Given the description of an element on the screen output the (x, y) to click on. 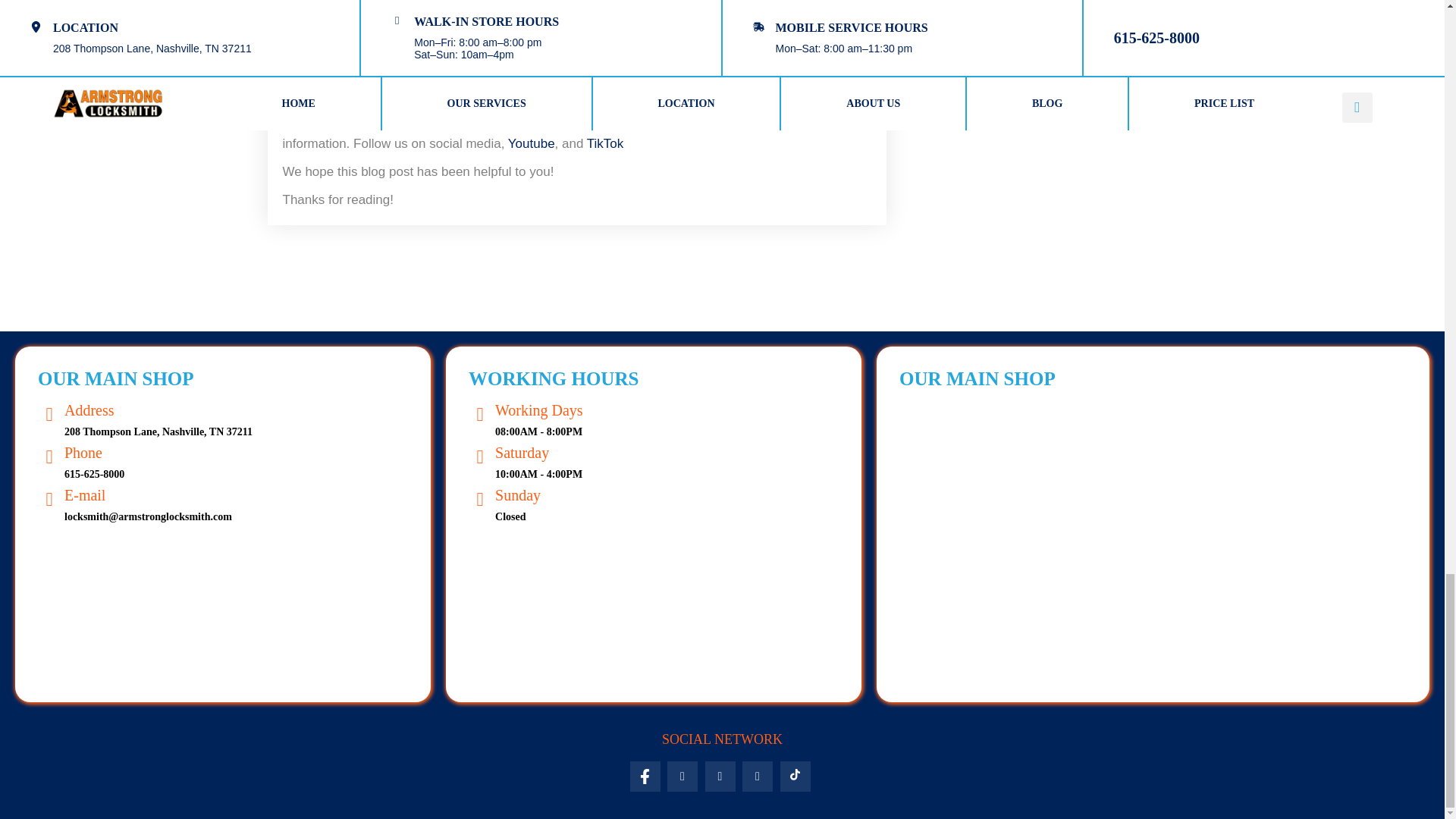
Instagram (719, 776)
tiktok (793, 776)
FaceBook (643, 776)
thumbtack (757, 776)
Youtube (681, 776)
